Given the description of an element on the screen output the (x, y) to click on. 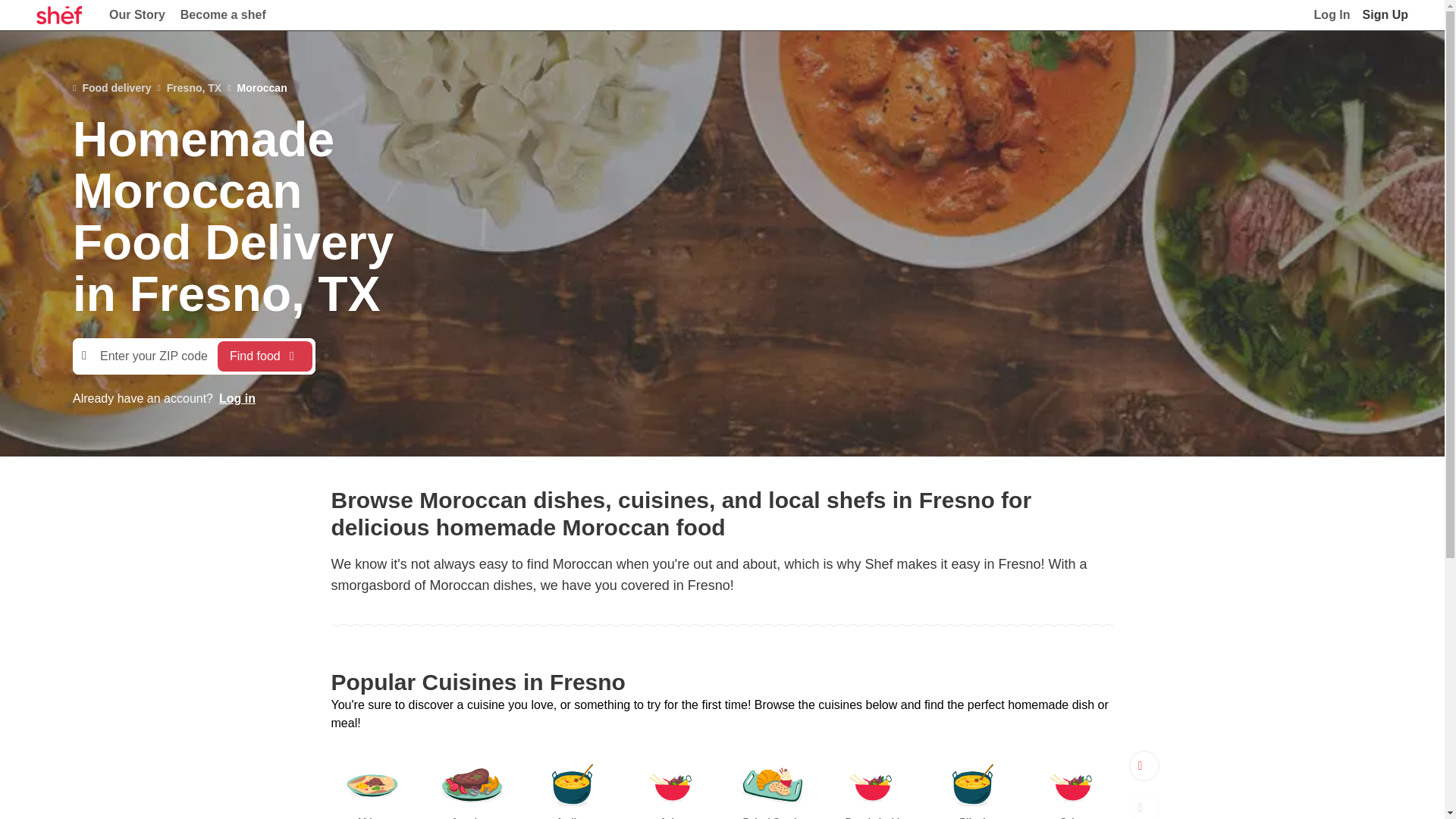
Moroccan (256, 87)
Sign Up (1384, 14)
Find food (264, 356)
Our Story (137, 14)
Bihari (972, 785)
Become a shef (223, 14)
Fresno, TX (189, 87)
American (471, 785)
Asian (671, 785)
Andhra (571, 785)
